Given the description of an element on the screen output the (x, y) to click on. 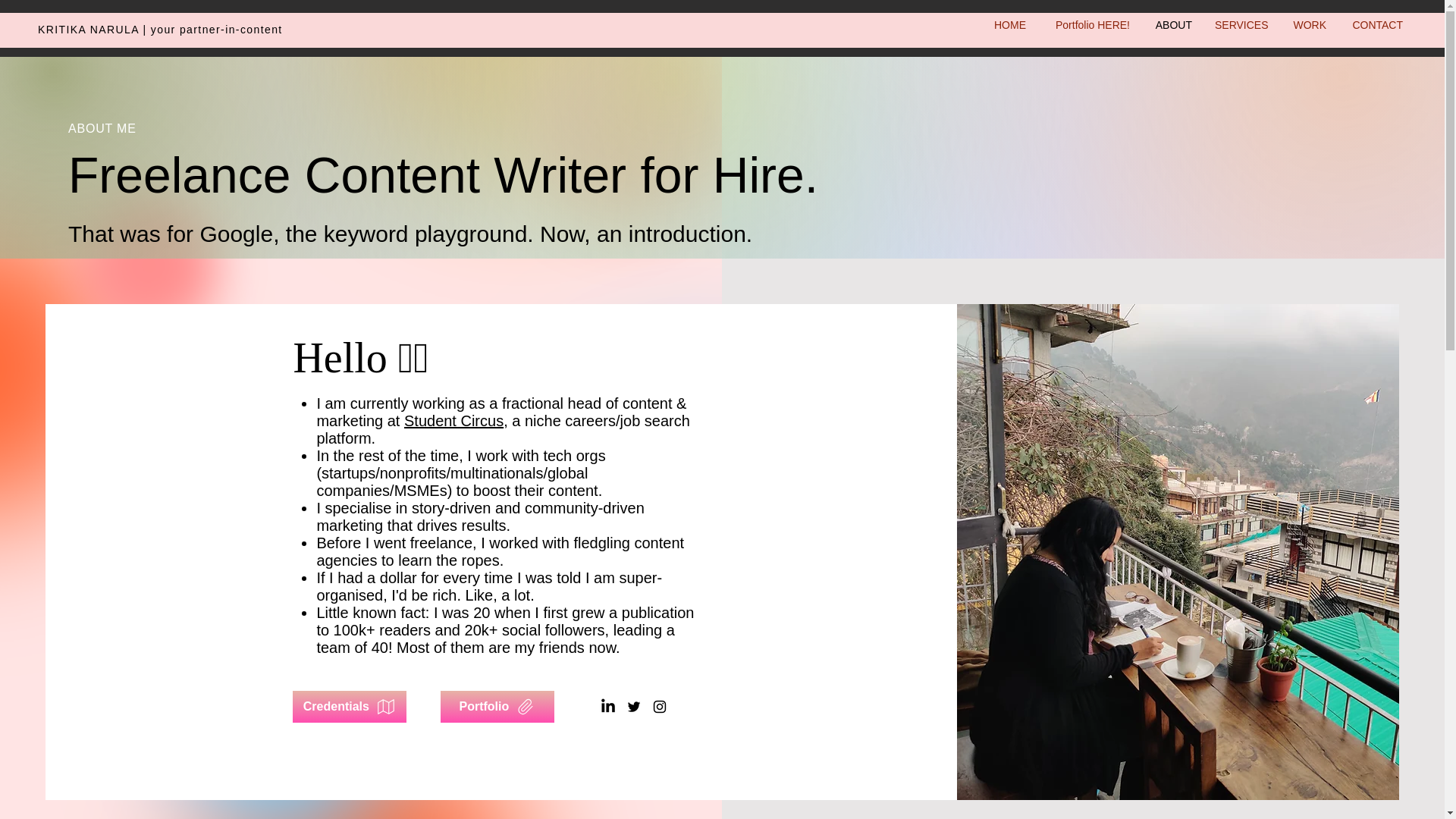
CONTACT (1375, 24)
Portfolio (497, 706)
HOME (1007, 24)
Student Circus (453, 420)
Credentials (349, 706)
WORK (1308, 24)
Portfolio HERE! (1088, 24)
ABOUT (1172, 24)
SERVICES (1241, 24)
